Given the description of an element on the screen output the (x, y) to click on. 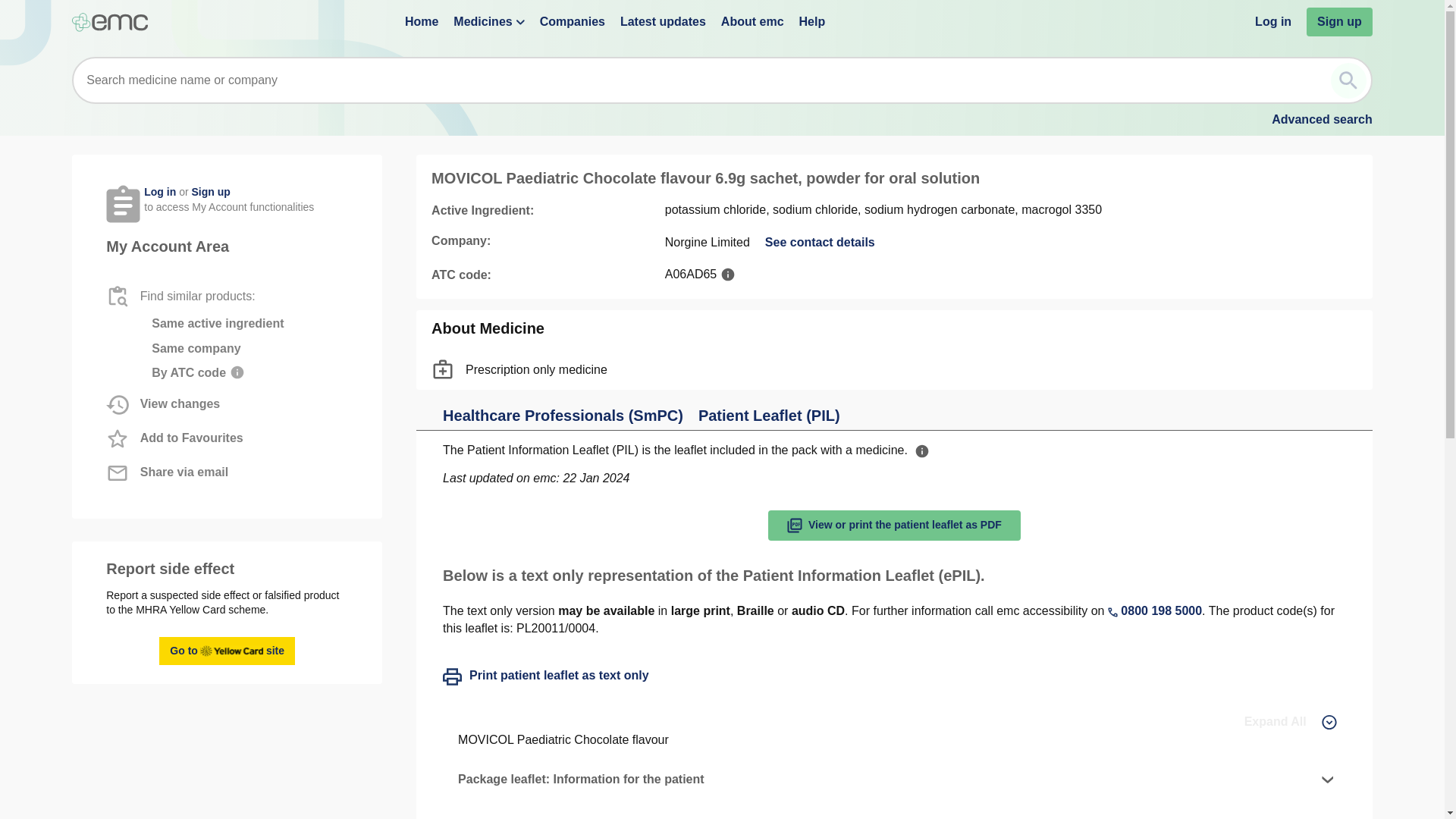
Home (421, 21)
0800 198 5000 (1155, 610)
Advanced search (1322, 119)
See contact details (820, 242)
emc Search (1347, 80)
Sign up (1339, 21)
Companies (572, 21)
Log in (160, 191)
Link to Norgine Limited details (820, 242)
Latest updates (663, 21)
Help (812, 21)
Sign up (210, 191)
Expand All (1290, 722)
Print patient leaflet as text only (226, 651)
